Given the description of an element on the screen output the (x, y) to click on. 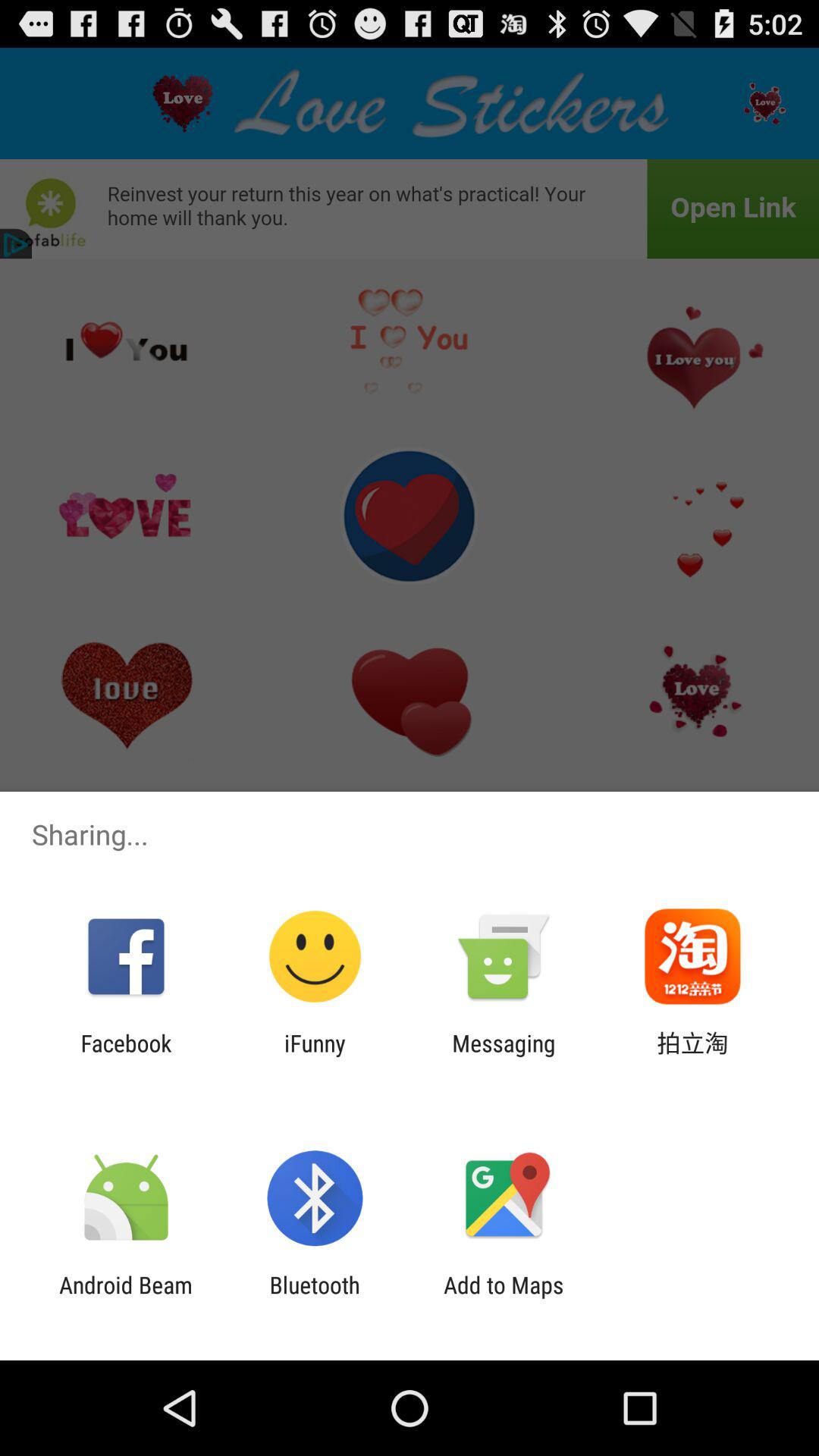
choose the facebook icon (125, 1056)
